Given the description of an element on the screen output the (x, y) to click on. 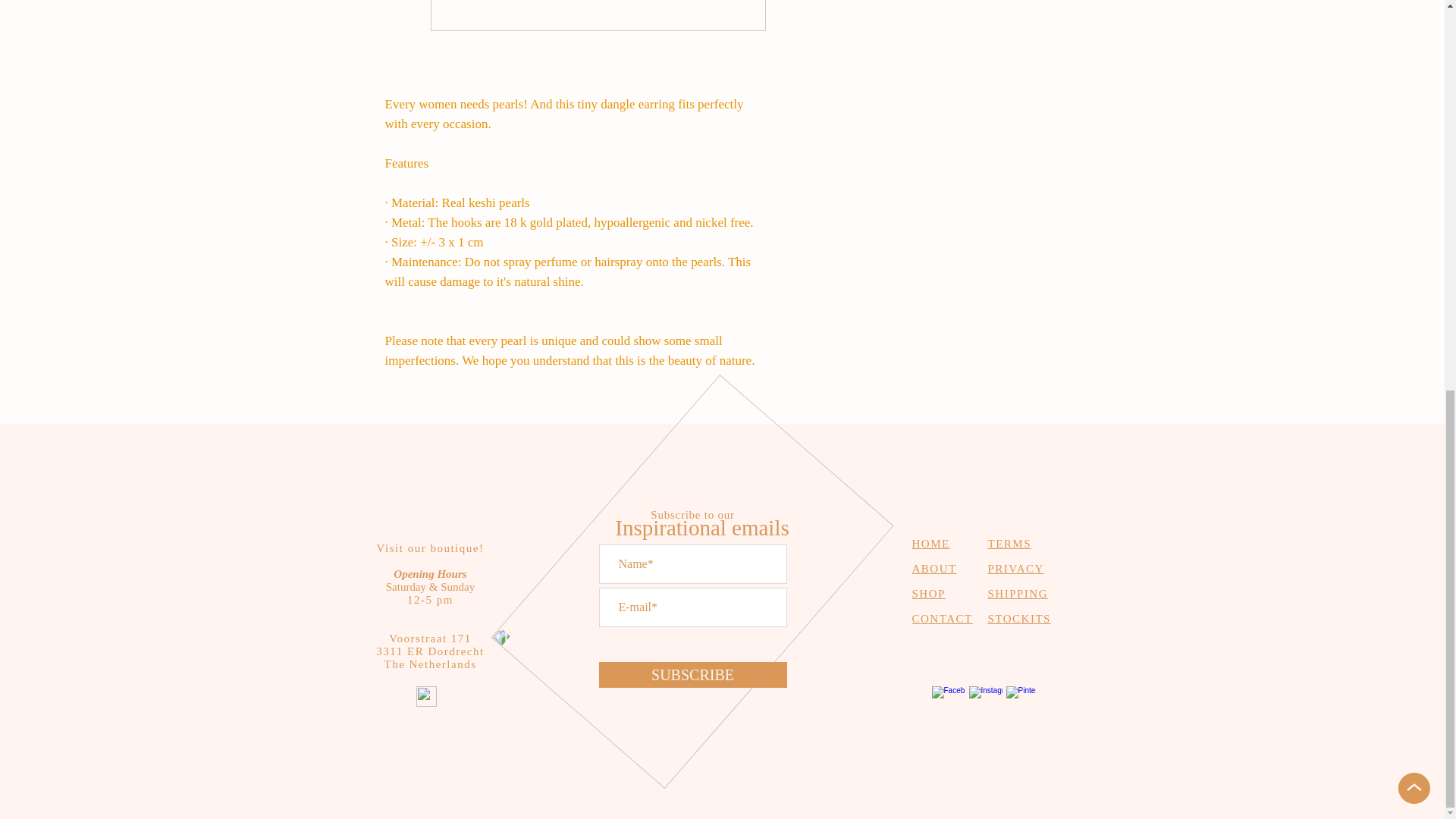
HOME (930, 543)
element.png (665, 489)
ABOUT (933, 568)
SHIPPING (1017, 593)
TERMS (1008, 543)
PRIVACY (1015, 568)
SHOP (927, 593)
iconmonstr-location-1-240.png (424, 696)
SUBSCRIBE (692, 674)
CONTACT (941, 618)
STOCKITS (1018, 618)
